Given the description of an element on the screen output the (x, y) to click on. 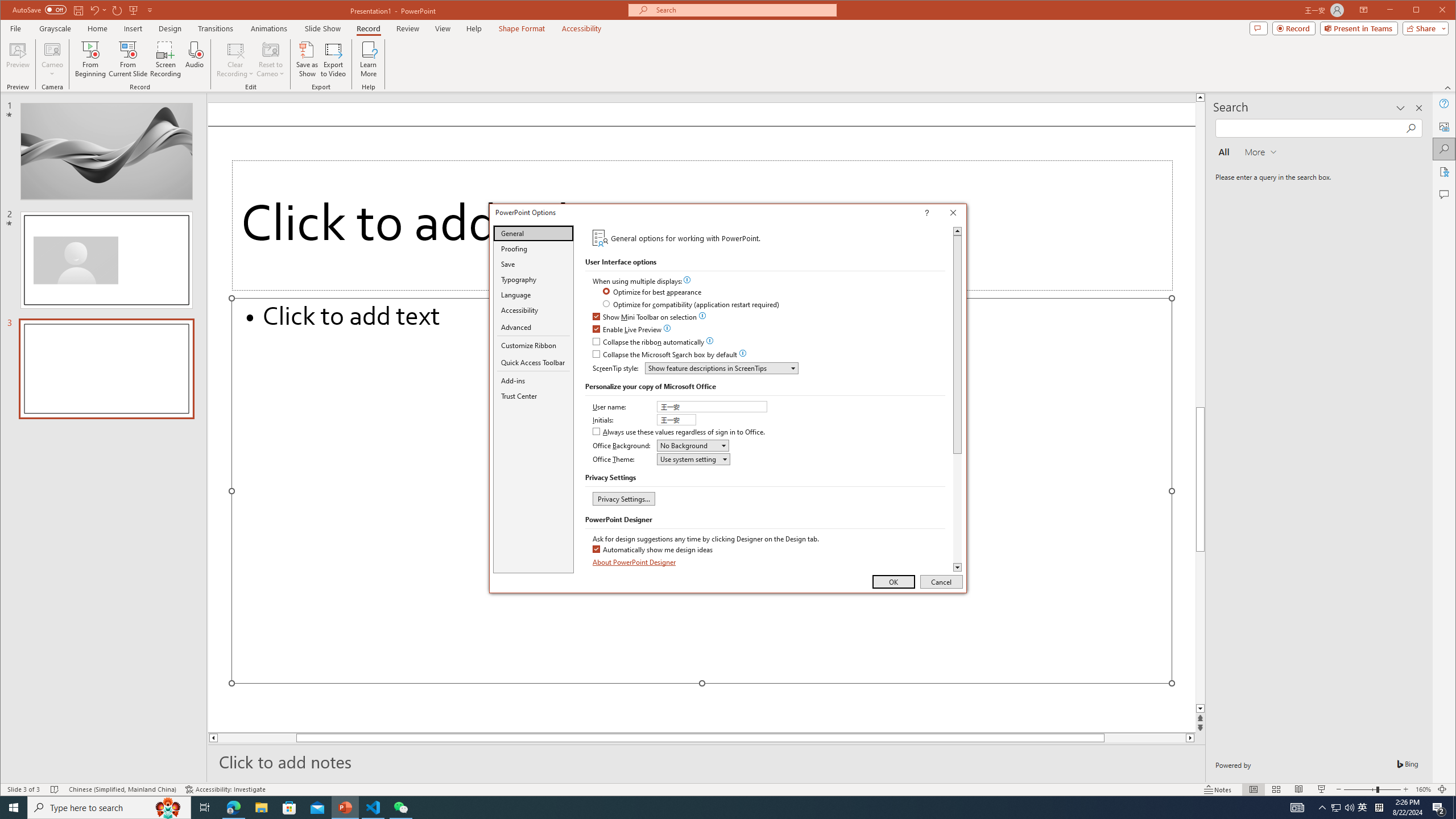
Export to Video (333, 59)
Automatically show me design ideas (653, 549)
Trust Center (533, 395)
ScreenTip style (721, 367)
